Given the description of an element on the screen output the (x, y) to click on. 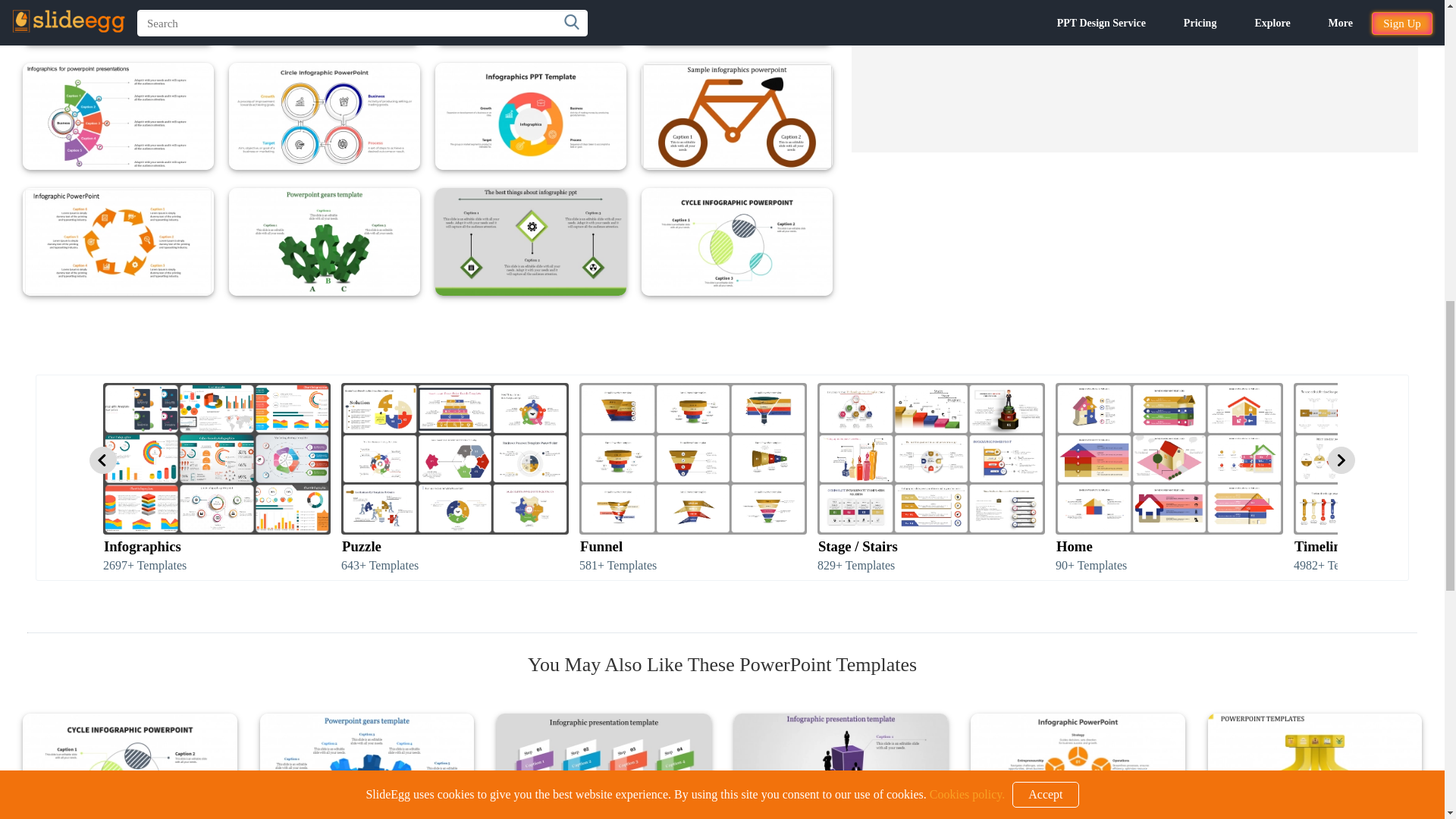
Effective Infographic Presentation Template In Purple Color (841, 766)
Multi-Color Cycle Infographic PowerPoint Template Slide (130, 766)
Gears PowerPoint Template And Google Slides - Blue Color (366, 766)
Advertisement (1134, 76)
Orange Color Business PPT And Google Slides Template (1078, 766)
Editable Infographic Presentation Template With Four Nodes (603, 766)
